Given the description of an element on the screen output the (x, y) to click on. 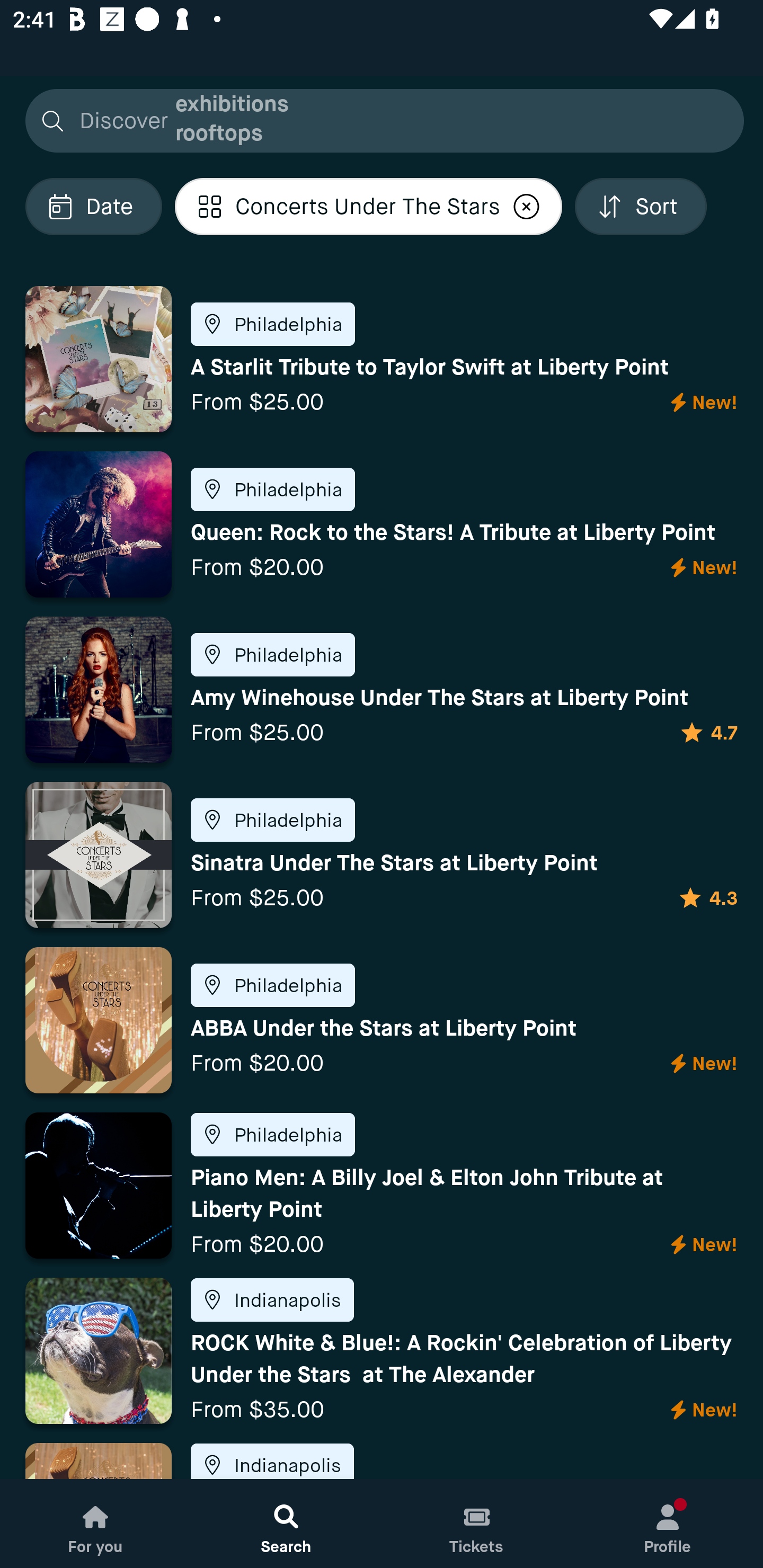
Discover exhibitions (379, 120)
Localized description Date (93, 205)
Localized description (526, 205)
Localized description Sort (640, 205)
For you (95, 1523)
Tickets (476, 1523)
Profile, New notification Profile (667, 1523)
